Given the description of an element on the screen output the (x, y) to click on. 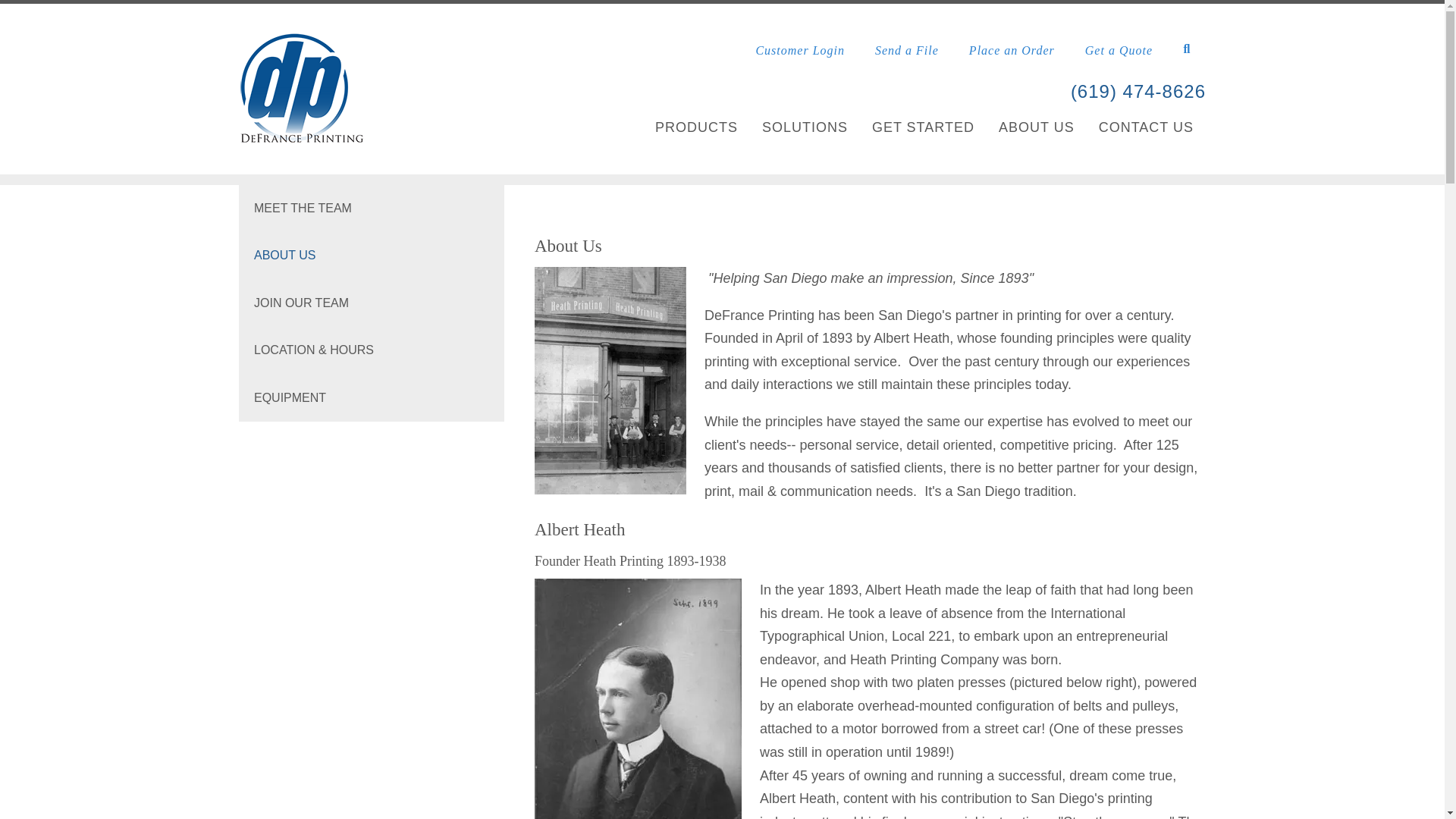
CONTACT US (1146, 128)
GET STARTED (923, 128)
ABOUT US (1036, 128)
Send a File (907, 50)
SOLUTIONS (804, 128)
Get a Quote (1118, 50)
logo (301, 92)
PRODUCTS (696, 128)
Place an Order (1011, 50)
Customer Login (799, 50)
